Given the description of an element on the screen output the (x, y) to click on. 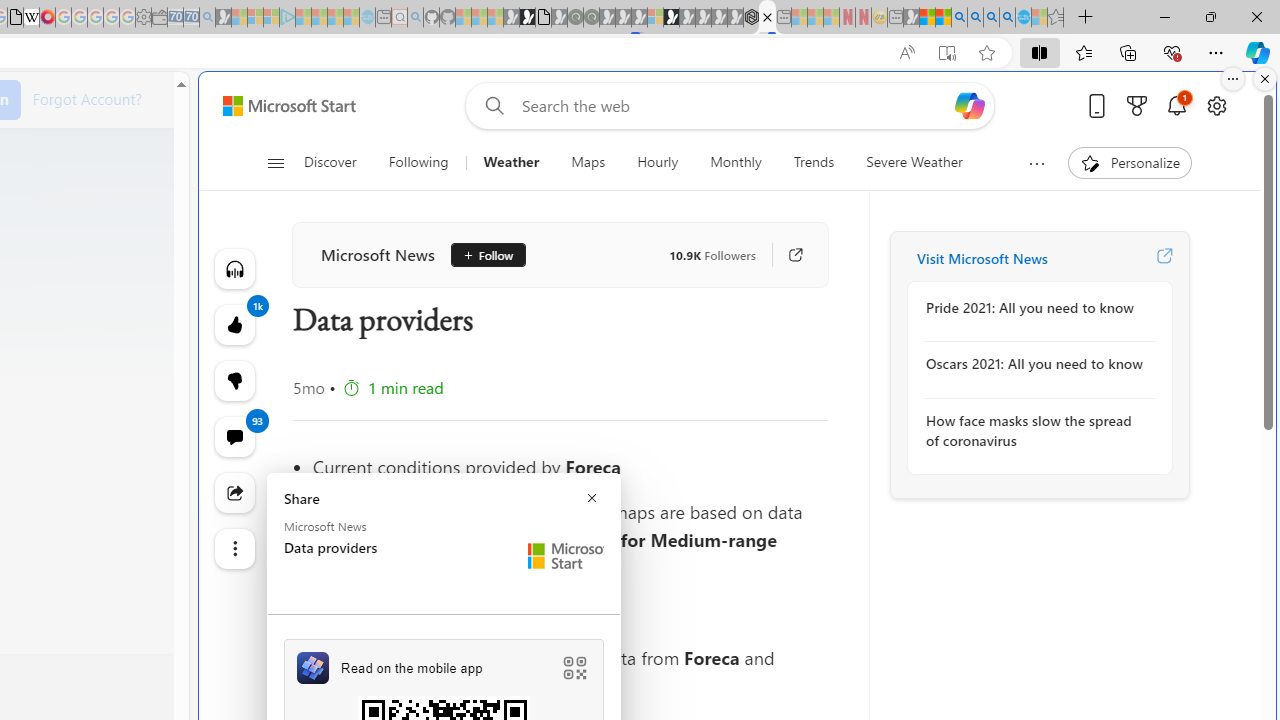
1k Like (234, 324)
MediaWiki (47, 17)
Share this story (234, 492)
2009 Bing officially replaced Live Search on June 3 - Search (975, 17)
Class: at-item (234, 548)
